Given the description of an element on the screen output the (x, y) to click on. 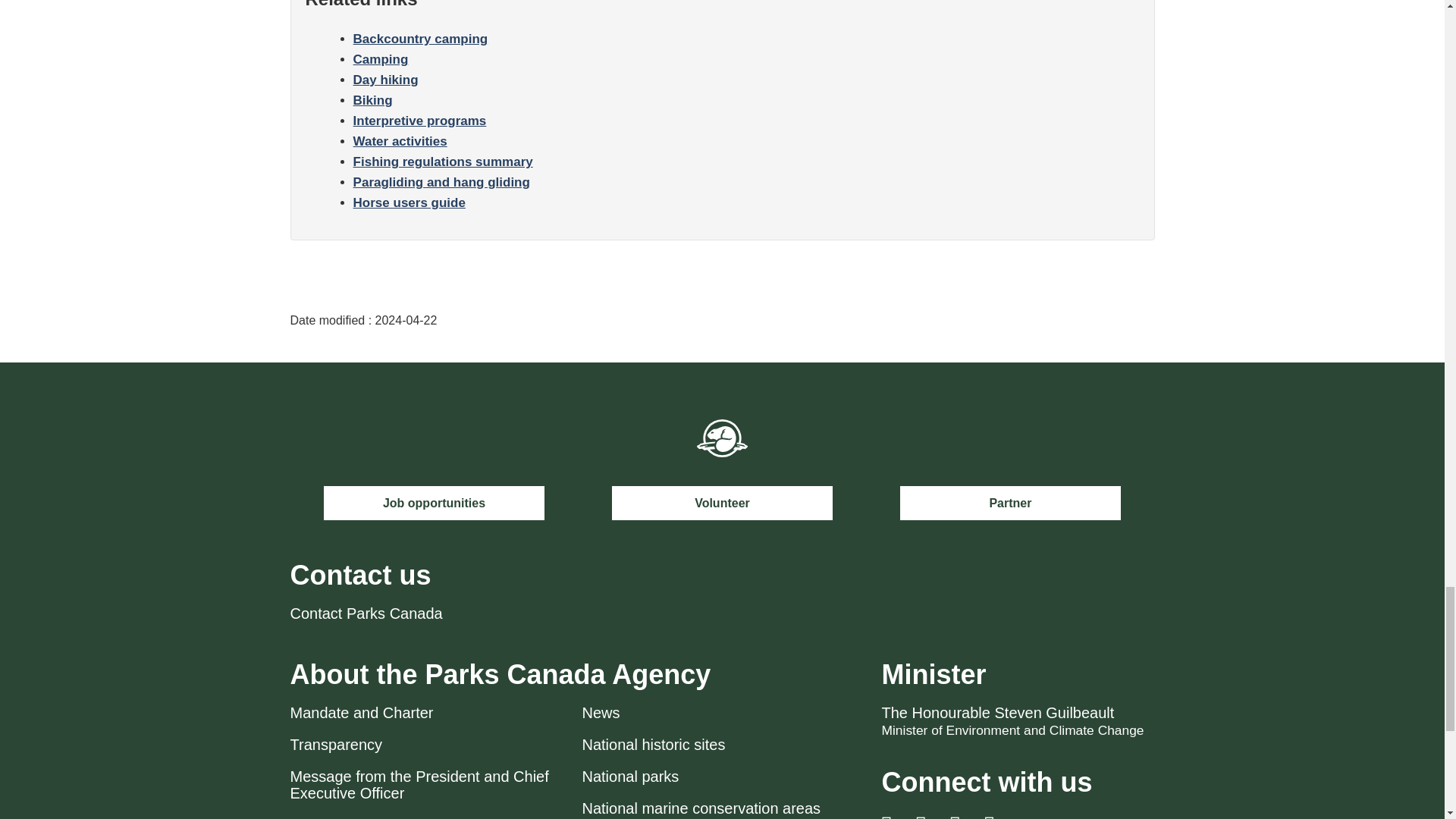
Day hiking (386, 79)
National historic sites (653, 744)
Fishing regulations summary (442, 161)
News (601, 712)
Message from the President and Chief Executive Officer (418, 784)
Water activities (399, 141)
Transparency (335, 744)
Partner (1010, 503)
Interpretive programs (419, 120)
Backcountry camping (420, 38)
Horse users guide (409, 202)
Camping (381, 59)
Mandate and Charter (360, 712)
Contact Parks Canada (365, 613)
